Given the description of an element on the screen output the (x, y) to click on. 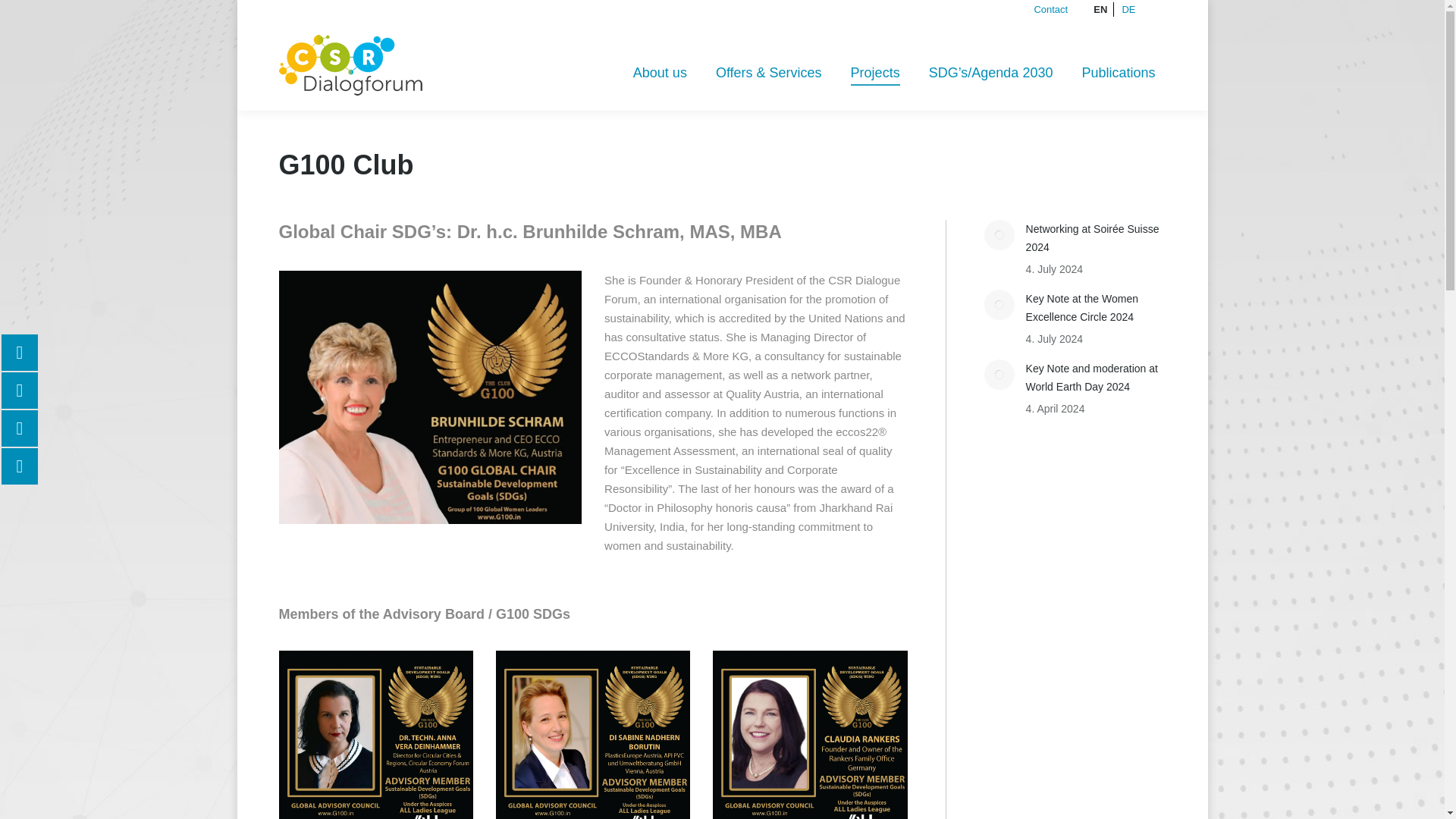
DE (1128, 9)
BS Global Chair (430, 397)
Projects (875, 72)
Contact (1050, 9)
Claudia-Rankers (810, 734)
Publications (1118, 72)
Dr.-techn.-Anna (376, 734)
EN (1099, 9)
DI-Sabine-Nadhern (593, 734)
EN (1099, 9)
About us (660, 72)
DE (1128, 9)
